Given the description of an element on the screen output the (x, y) to click on. 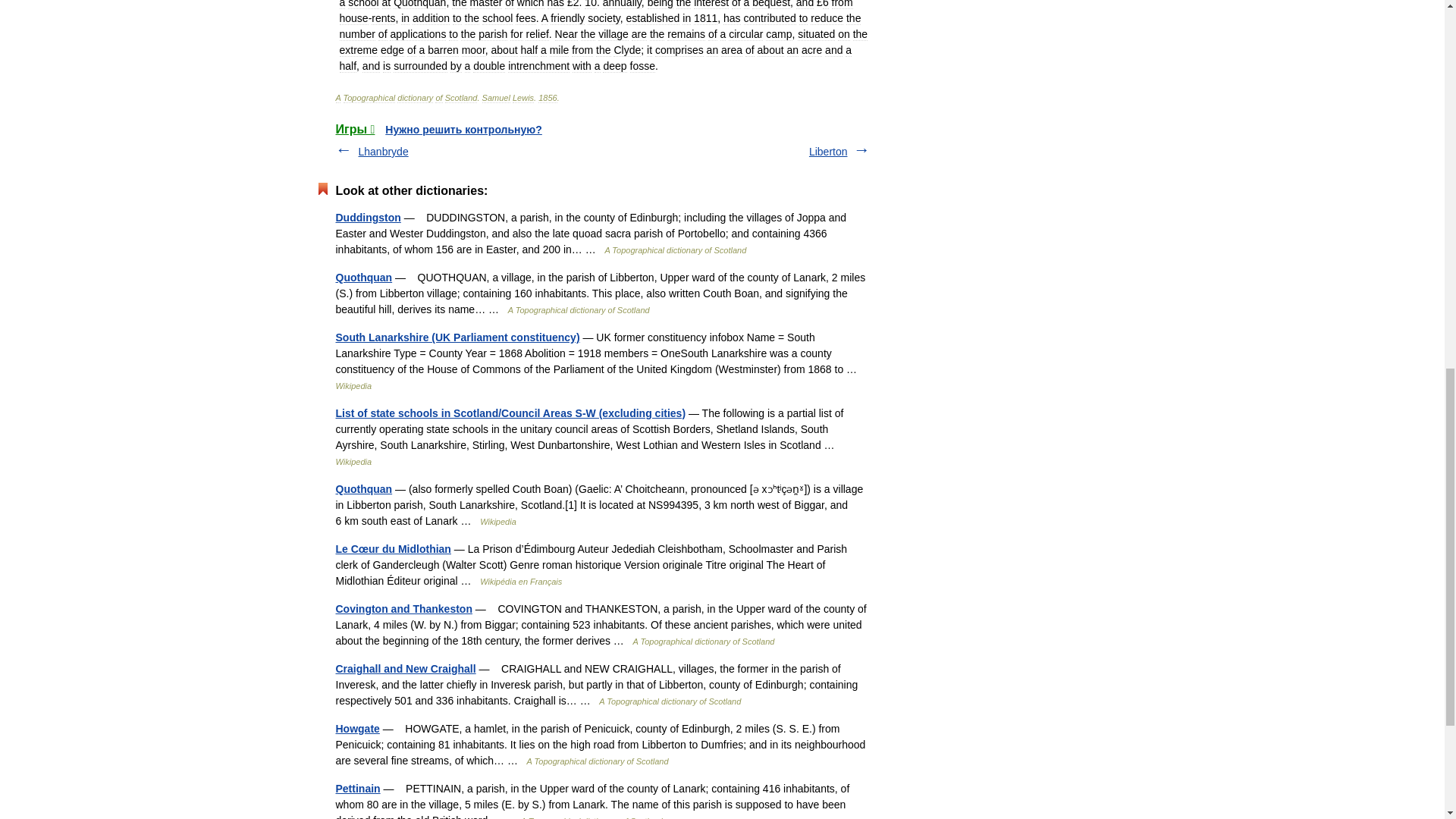
Craighall and New Craighall (405, 668)
Pettinain (357, 788)
Lhanbryde (382, 151)
Quothquan (362, 489)
Duddingston (367, 217)
Lhanbryde (382, 151)
Quothquan (362, 277)
Howgate (356, 728)
Liberton (828, 151)
Covington and Thankeston (402, 608)
Liberton (828, 151)
